Given the description of an element on the screen output the (x, y) to click on. 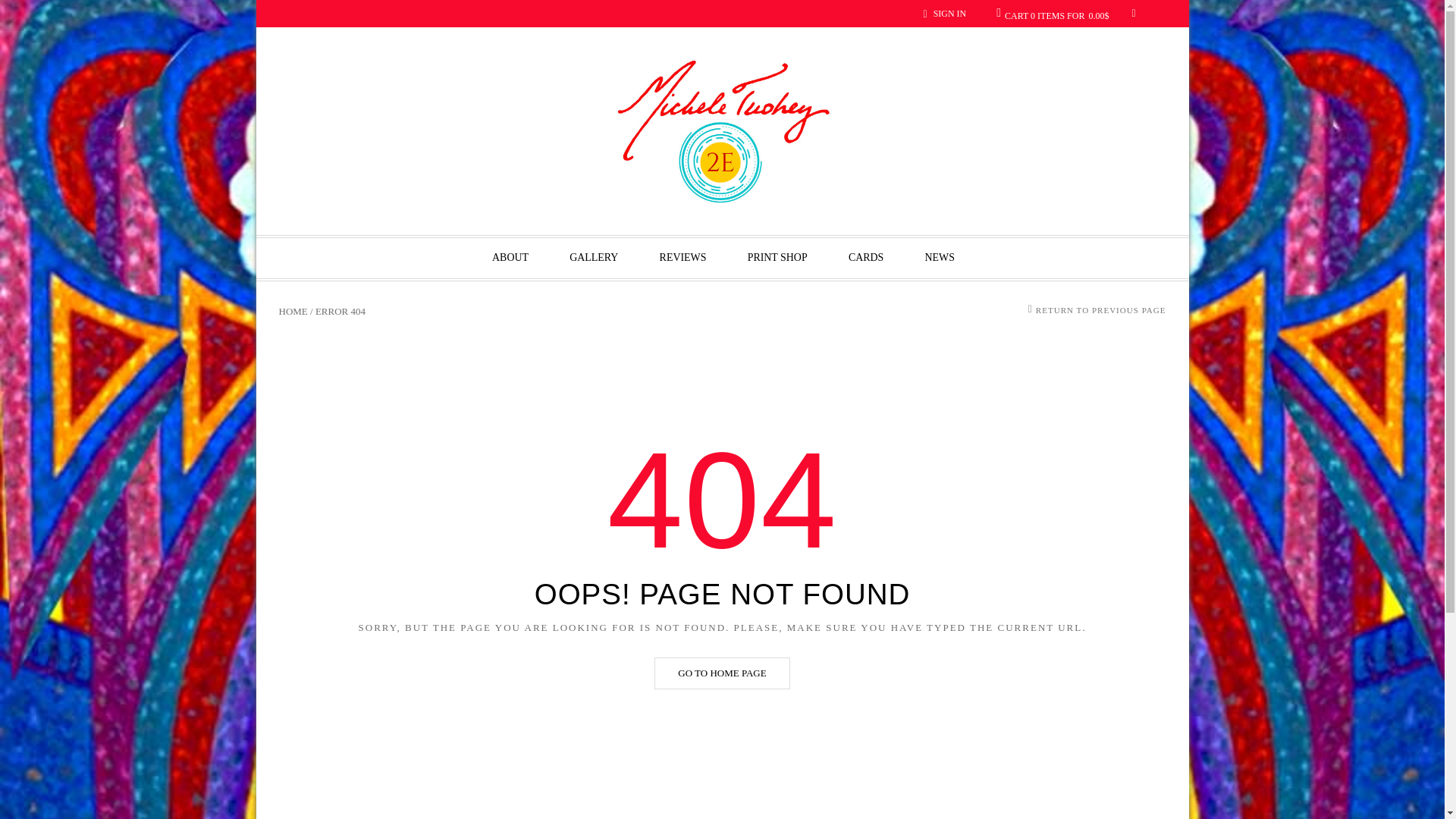
GO TO HOME PAGE (721, 673)
CARDS (865, 258)
SIGN IN (949, 13)
REVIEWS (683, 258)
HOME (293, 310)
GALLERY (593, 258)
RETURN TO PREVIOUS PAGE (1100, 309)
ABOUT (509, 258)
NEWS (939, 258)
PRINT SHOP (777, 258)
